Given the description of an element on the screen output the (x, y) to click on. 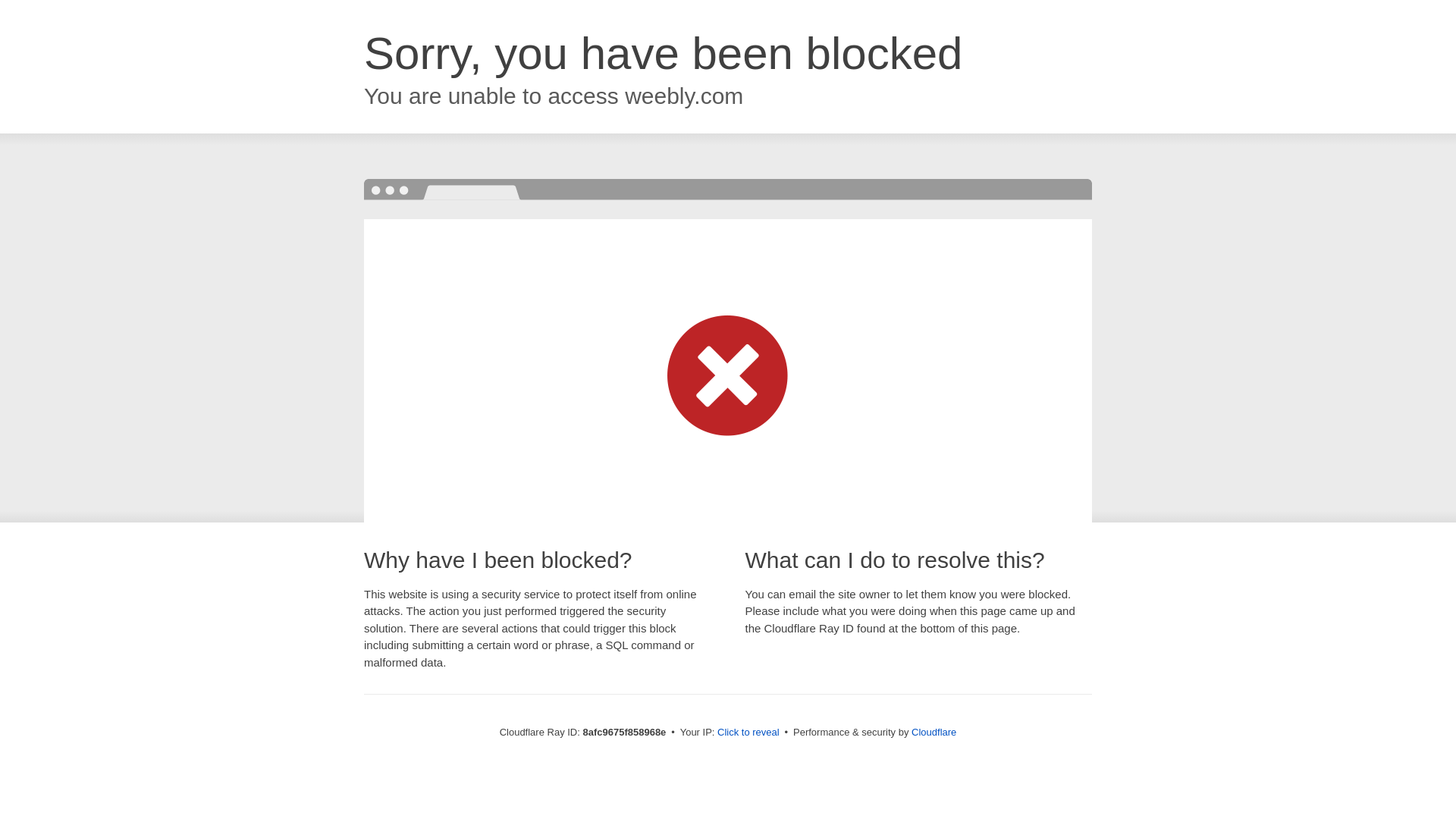
Cloudflare (933, 731)
Click to reveal (747, 732)
